Given the description of an element on the screen output the (x, y) to click on. 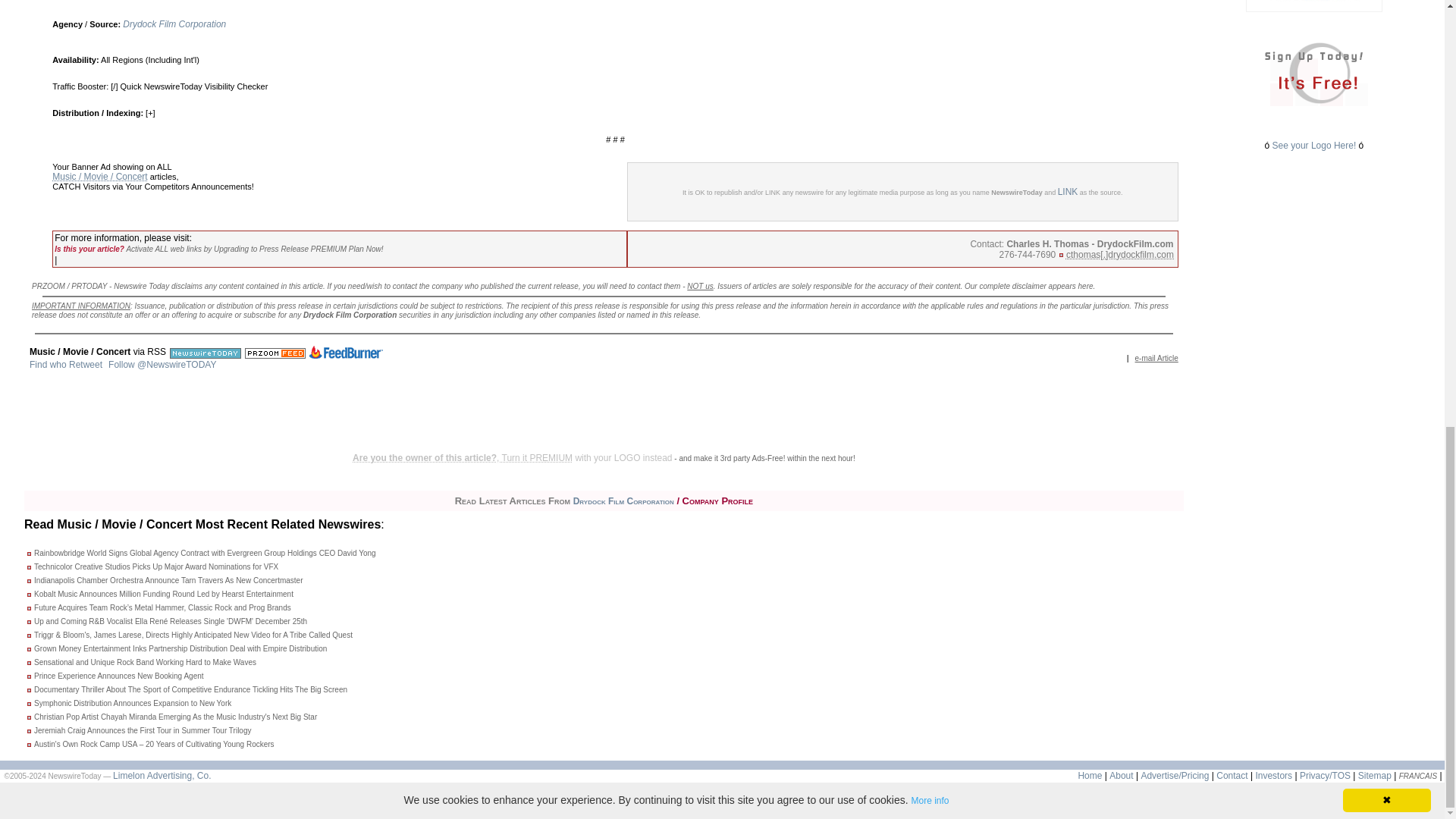
Find who Retweet (65, 364)
e-mail Article (1156, 357)
Drydock Film Corporation (173, 23)
LINK (1068, 191)
Quick NewswireToday (161, 86)
here (1085, 285)
